Given the description of an element on the screen output the (x, y) to click on. 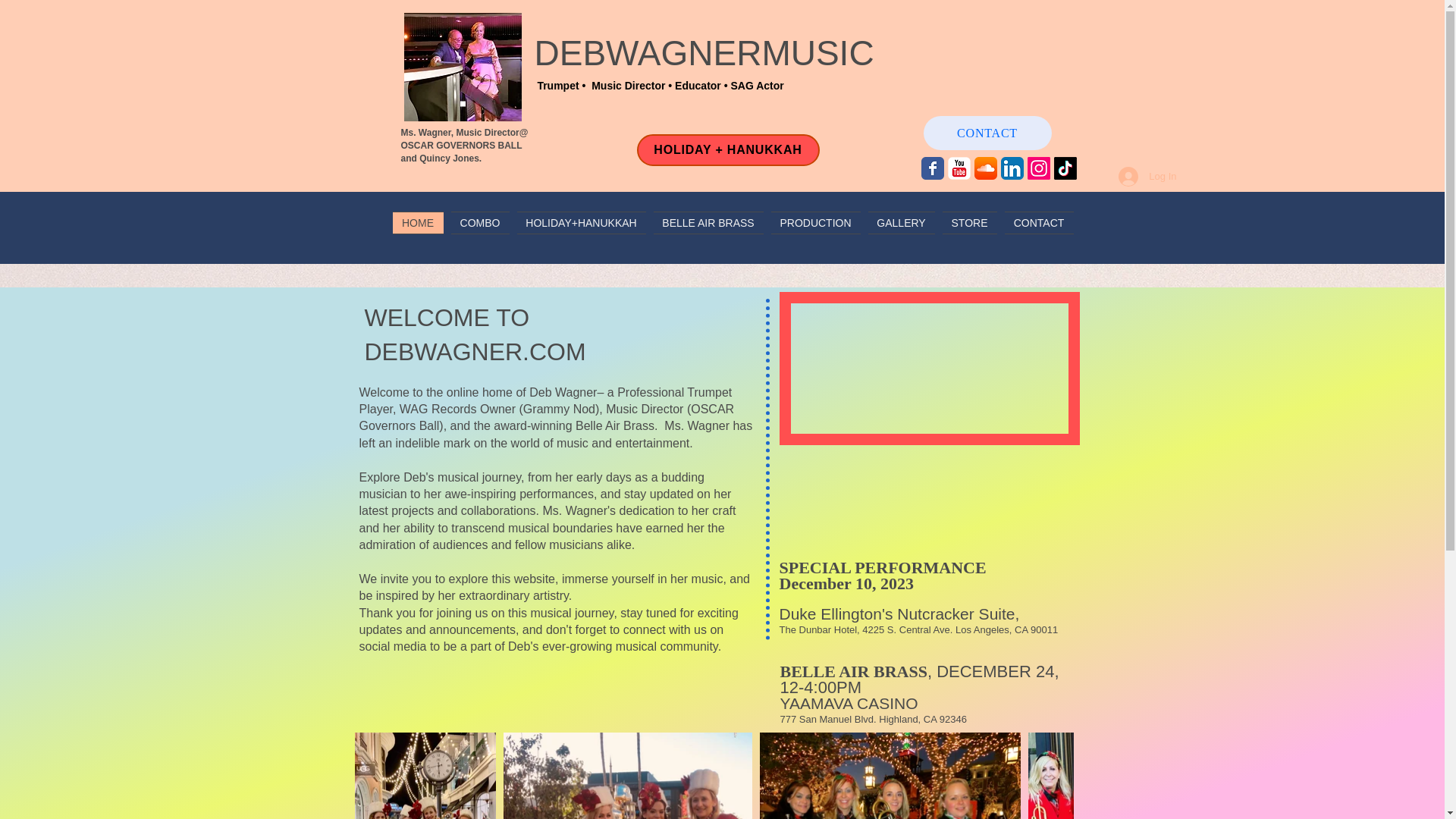
COMBO (479, 222)
PRODUCTION (815, 222)
CONTACT (987, 132)
BELLE AIR BRASS (708, 222)
GALLERY (901, 222)
CONTACT (1037, 222)
STORE (970, 222)
Log In (1147, 176)
HOME (419, 222)
